Given the description of an element on the screen output the (x, y) to click on. 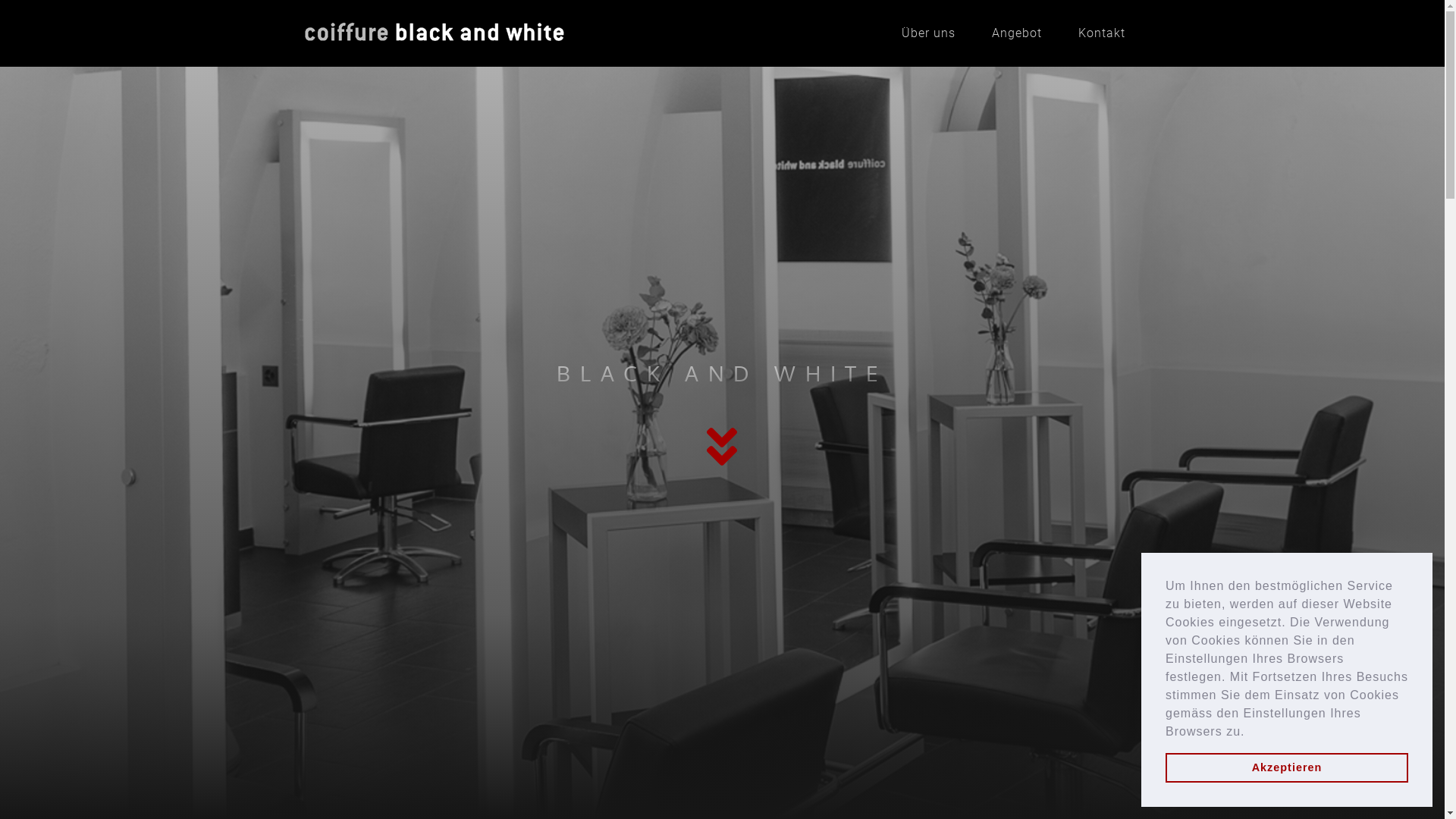
Angebot Element type: text (1016, 33)
Kontakt Element type: text (1101, 33)
Akzeptieren Element type: text (1286, 767)
